Given the description of an element on the screen output the (x, y) to click on. 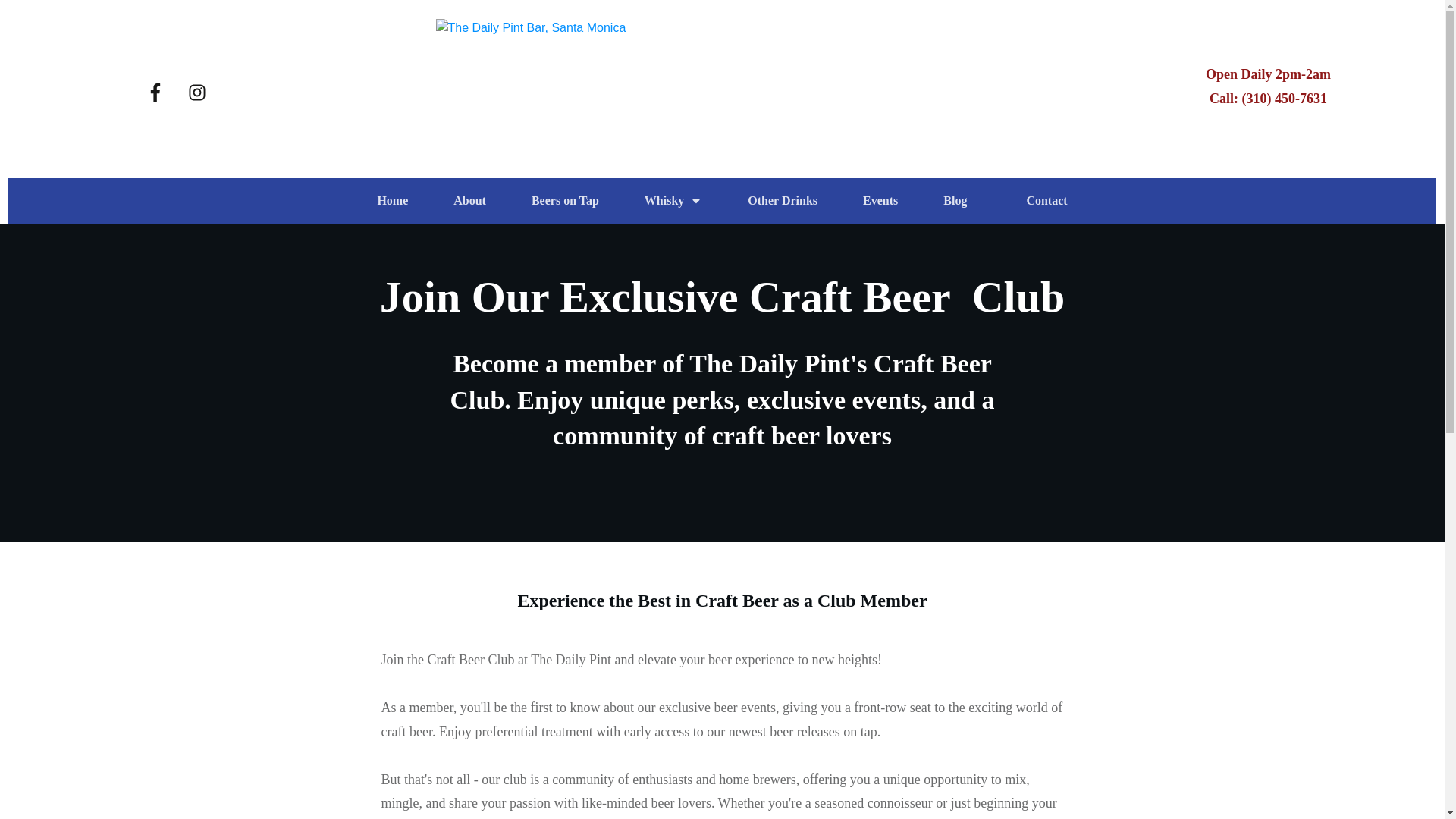
Other Drinks (782, 200)
Contact (1046, 200)
Home (392, 200)
Events (880, 200)
Whisky (673, 200)
About (469, 200)
Beers on Tap (564, 200)
Blog (954, 200)
